Given the description of an element on the screen output the (x, y) to click on. 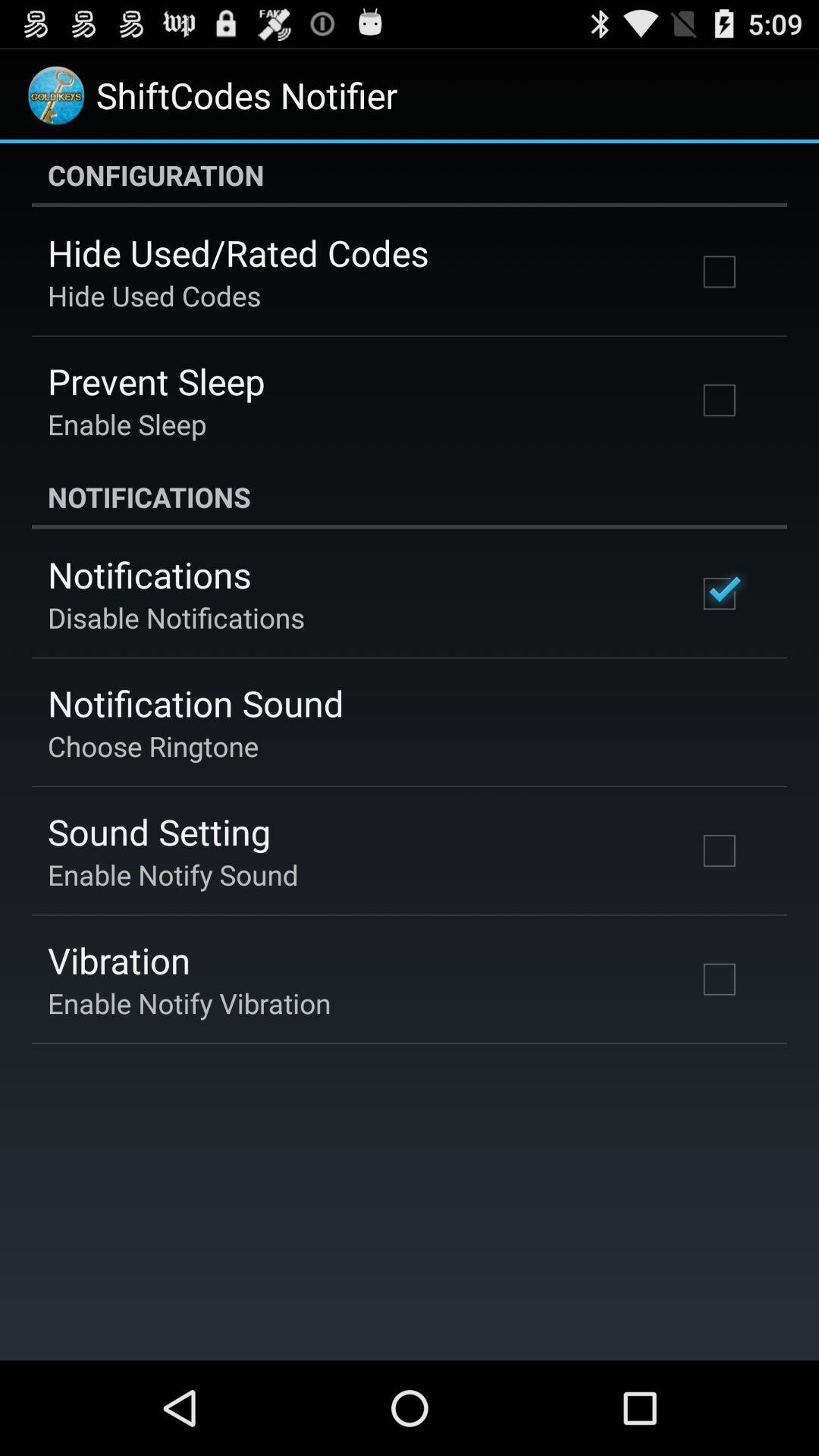
choose the app below the hide used codes item (156, 381)
